Given the description of an element on the screen output the (x, y) to click on. 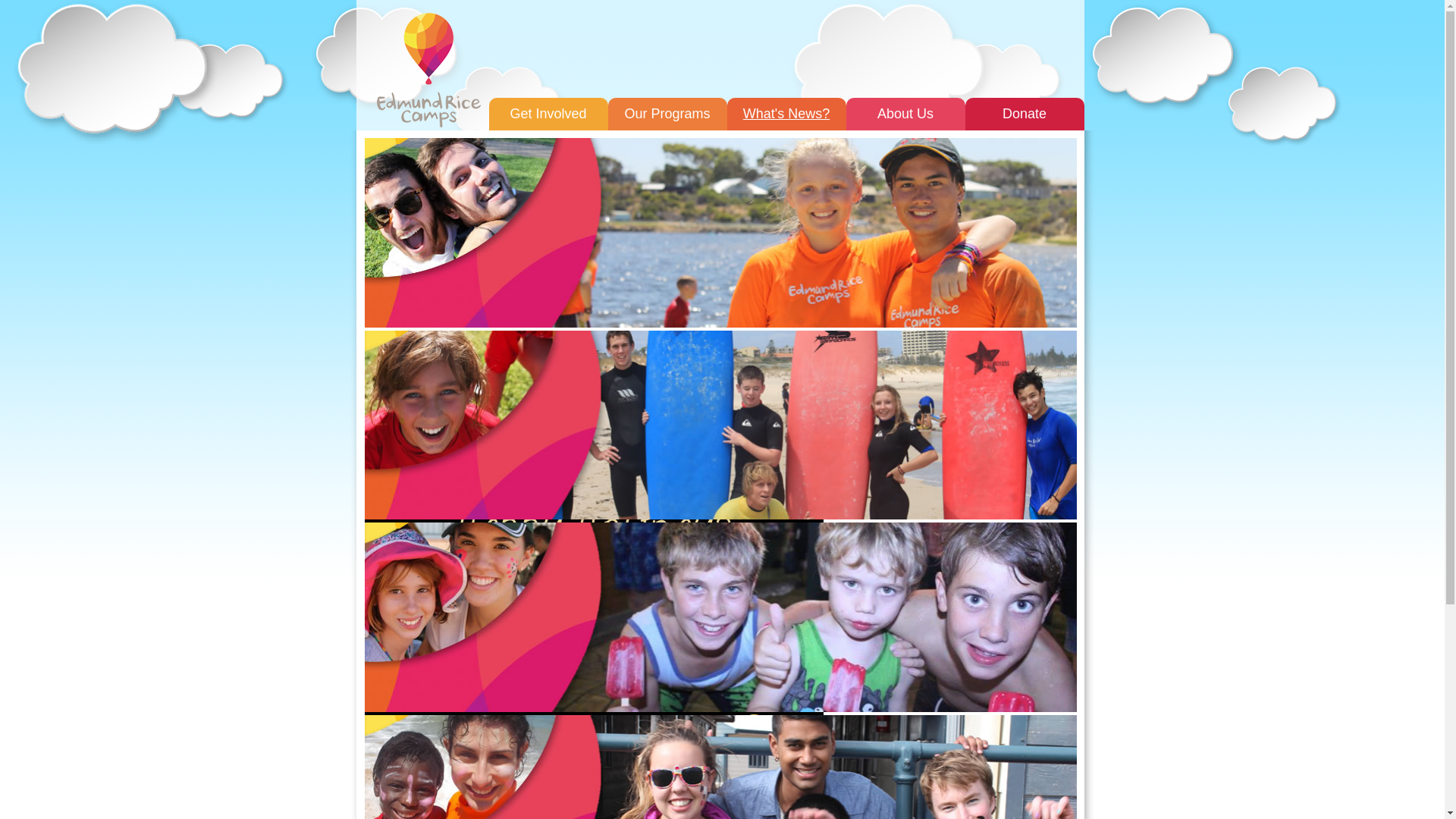
About Us Element type: text (905, 113)
Edmund Rice Camps Home Page Element type: hover (428, 69)
What's News? Element type: text (785, 113)
Donate Element type: text (1023, 113)
Our Programs Element type: text (667, 113)
Get Involved Element type: text (547, 113)
